Given the description of an element on the screen output the (x, y) to click on. 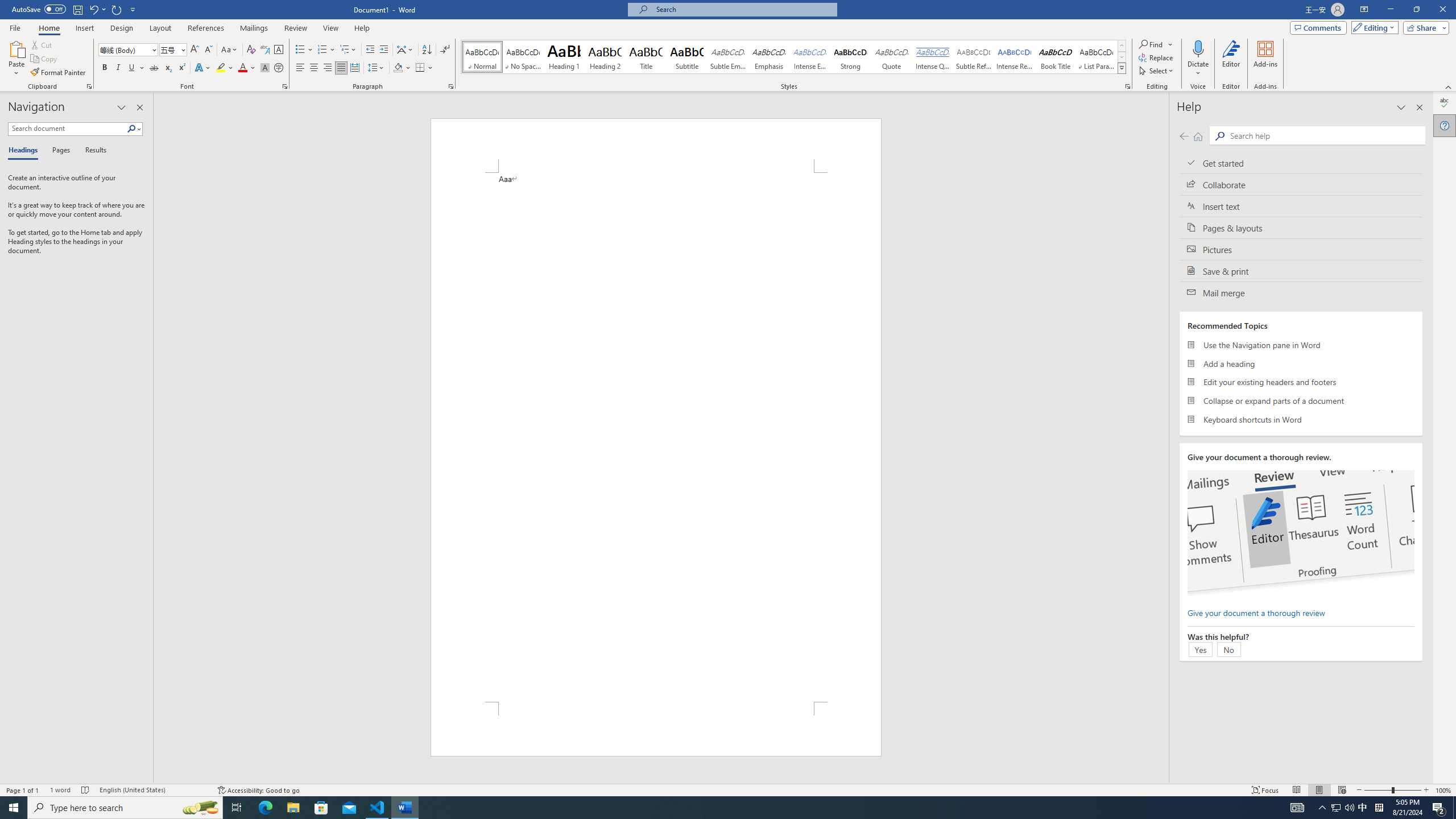
Numbering (322, 49)
Web Layout (1342, 790)
Shrink Font (208, 49)
Copy (45, 58)
Restore Down (1416, 9)
Search (133, 128)
Emphasis (768, 56)
Quick Access Toolbar (74, 9)
